Given the description of an element on the screen output the (x, y) to click on. 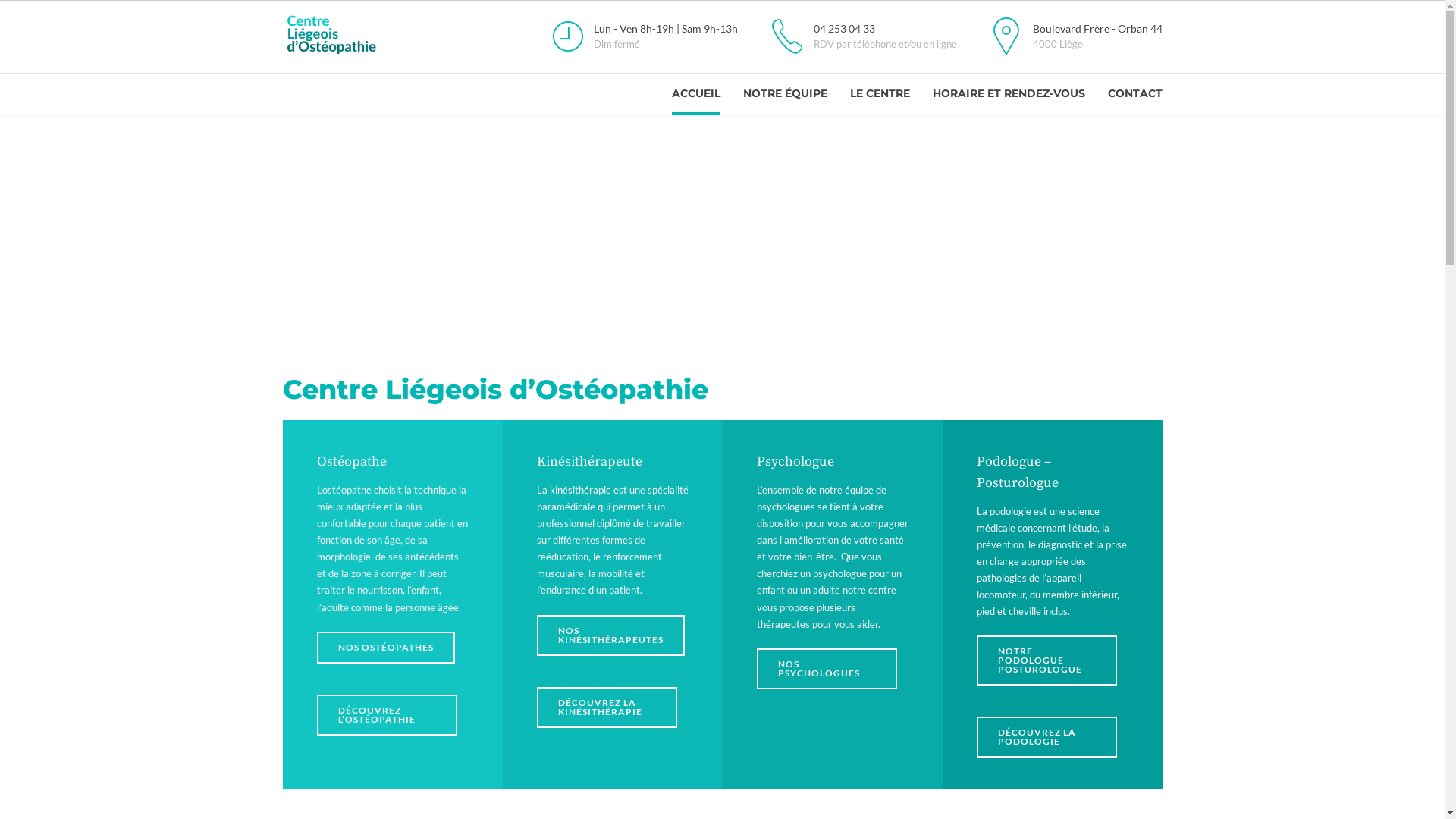
ACCUEIL Element type: text (695, 93)
HORAIRE ET RENDEZ-VOUS Element type: text (1008, 93)
NOTRE PODOLOGUE-POSTUROLOGUE Element type: text (1046, 660)
CONTACT Element type: text (1134, 93)
NOS PSYCHOLOGUES Element type: text (826, 668)
LE CENTRE Element type: text (879, 93)
